Given the description of an element on the screen output the (x, y) to click on. 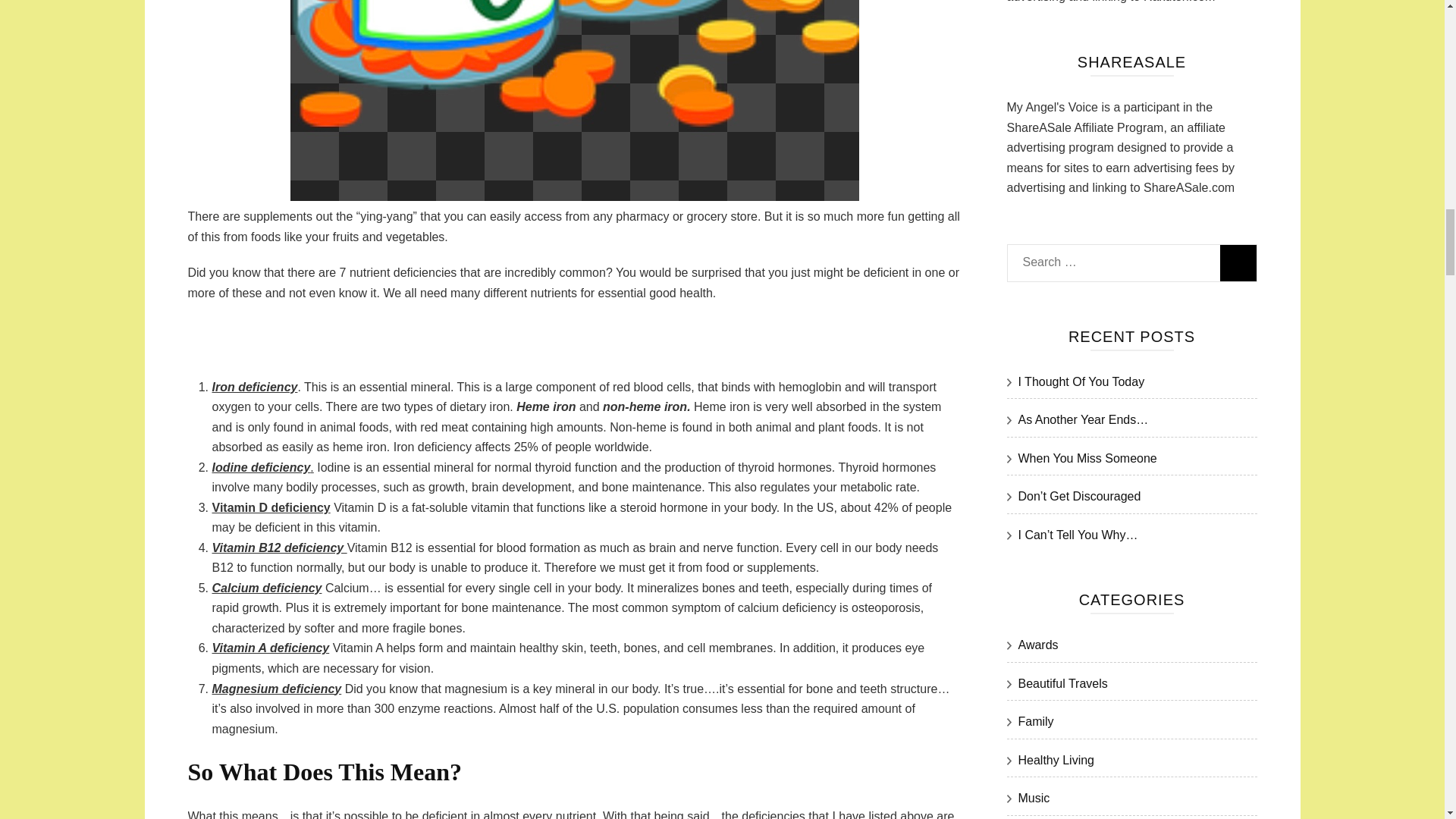
Iron deficiency (255, 386)
Search (1237, 262)
Iodine deficiency. (263, 467)
Search (1237, 262)
